Given the description of an element on the screen output the (x, y) to click on. 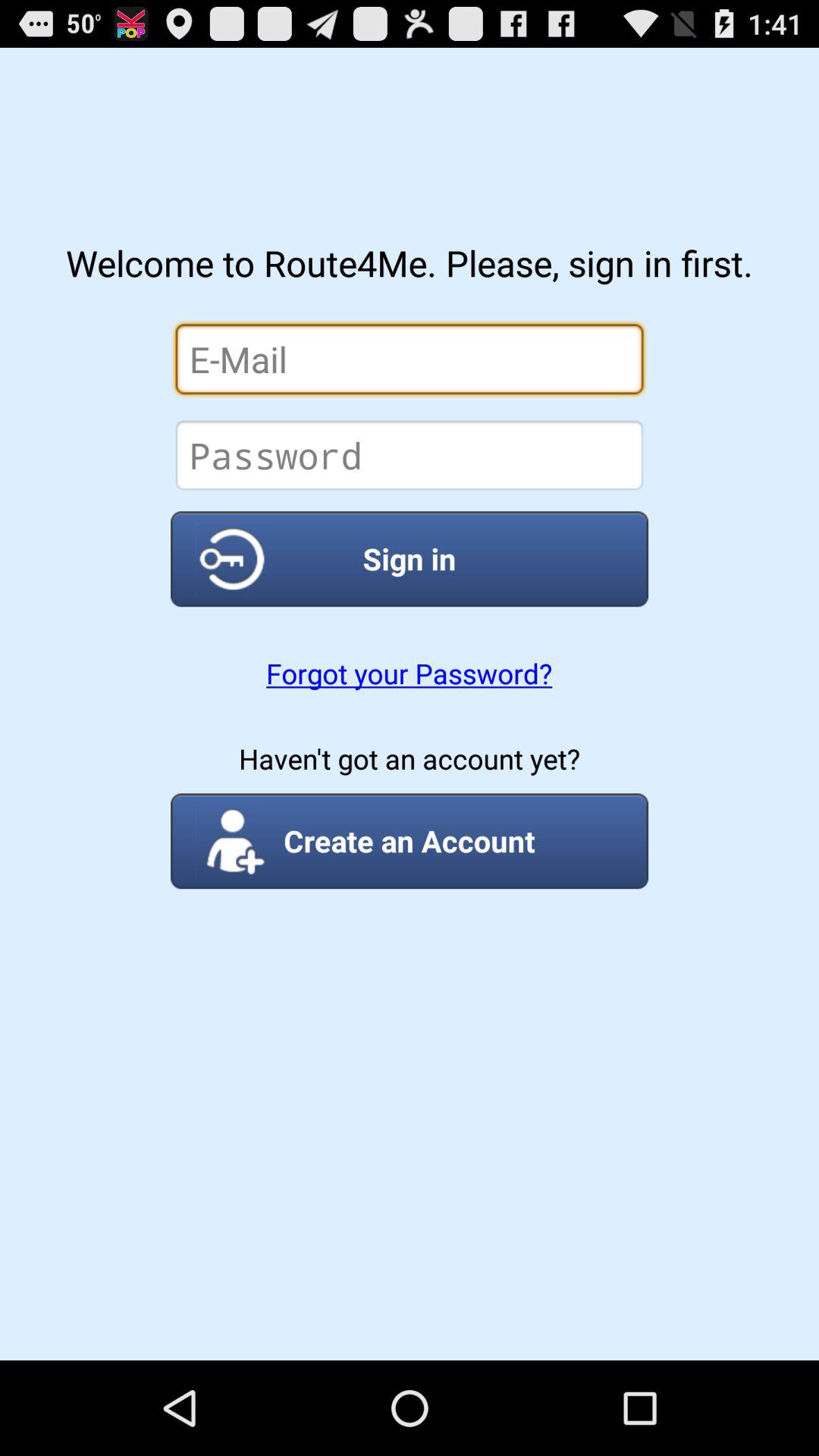
tap the icon above haven t got icon (409, 673)
